Given the description of an element on the screen output the (x, y) to click on. 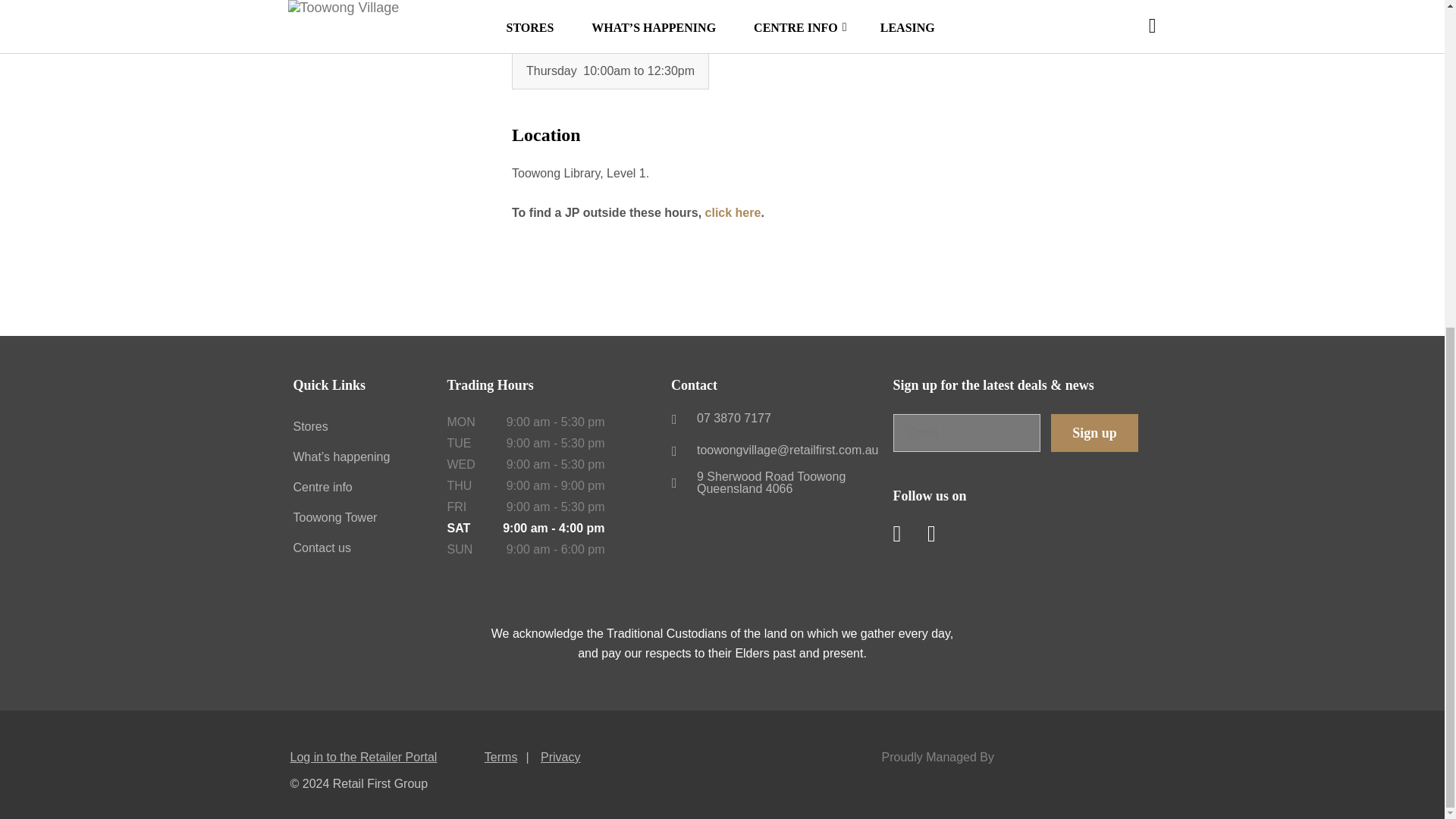
Sign up (1094, 433)
Stores (309, 426)
Toowong Tower (334, 517)
Sign up (1094, 433)
07 3870 7177 (778, 418)
9 Sherwood Road Toowong Queensland 4066 (778, 481)
Contact us (321, 547)
Centre info (322, 486)
click here (732, 212)
